Given the description of an element on the screen output the (x, y) to click on. 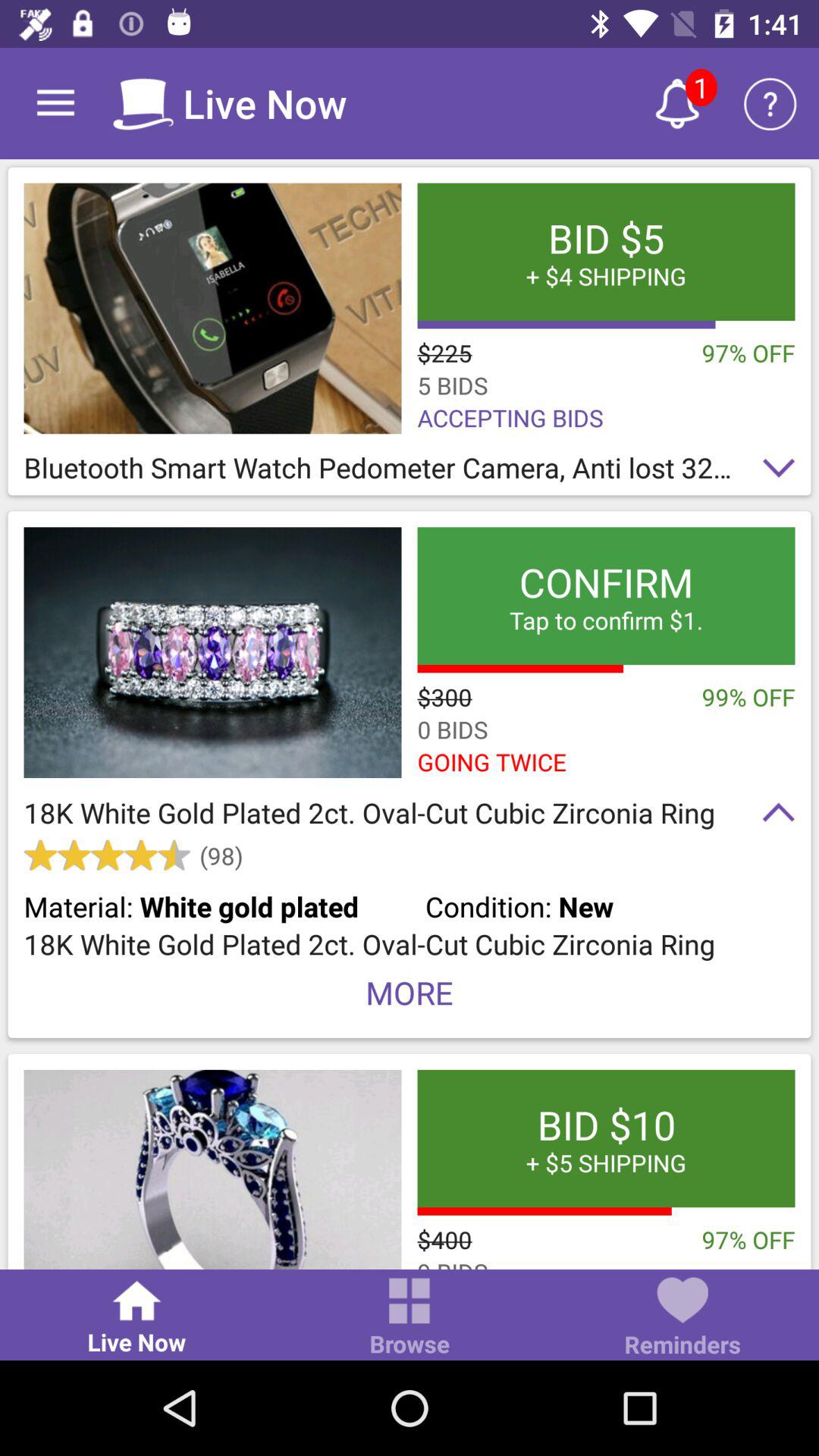
turn on the item to the left of the reminders icon (409, 1318)
